Given the description of an element on the screen output the (x, y) to click on. 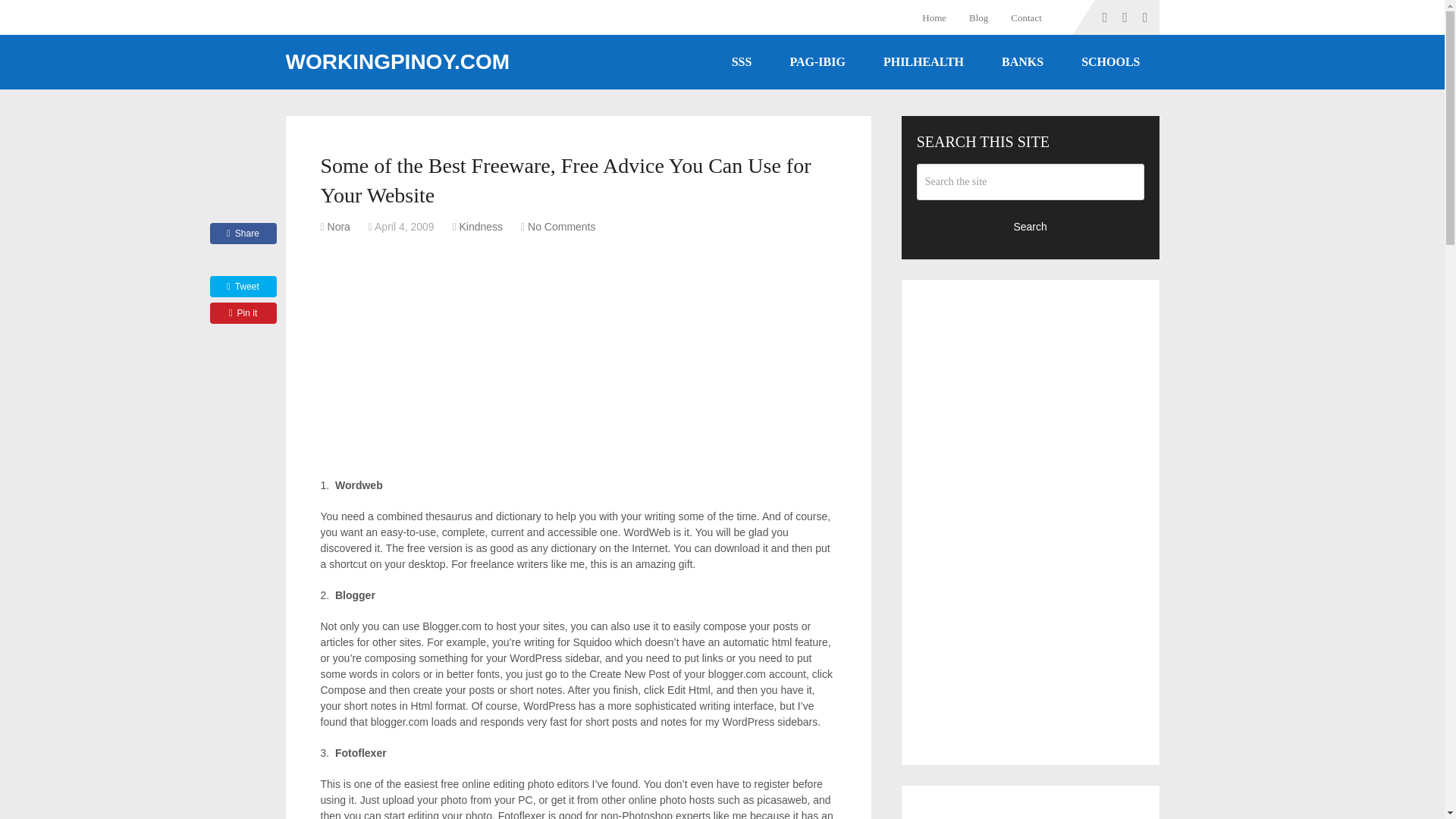
BANKS (1022, 62)
Advertisement (1030, 809)
Share (242, 233)
Tweet (242, 286)
Blog (978, 17)
SSS (742, 62)
View all posts in Kindness (481, 226)
Search (1030, 226)
PAG-IBIG (816, 62)
Contact (1025, 17)
